Given the description of an element on the screen output the (x, y) to click on. 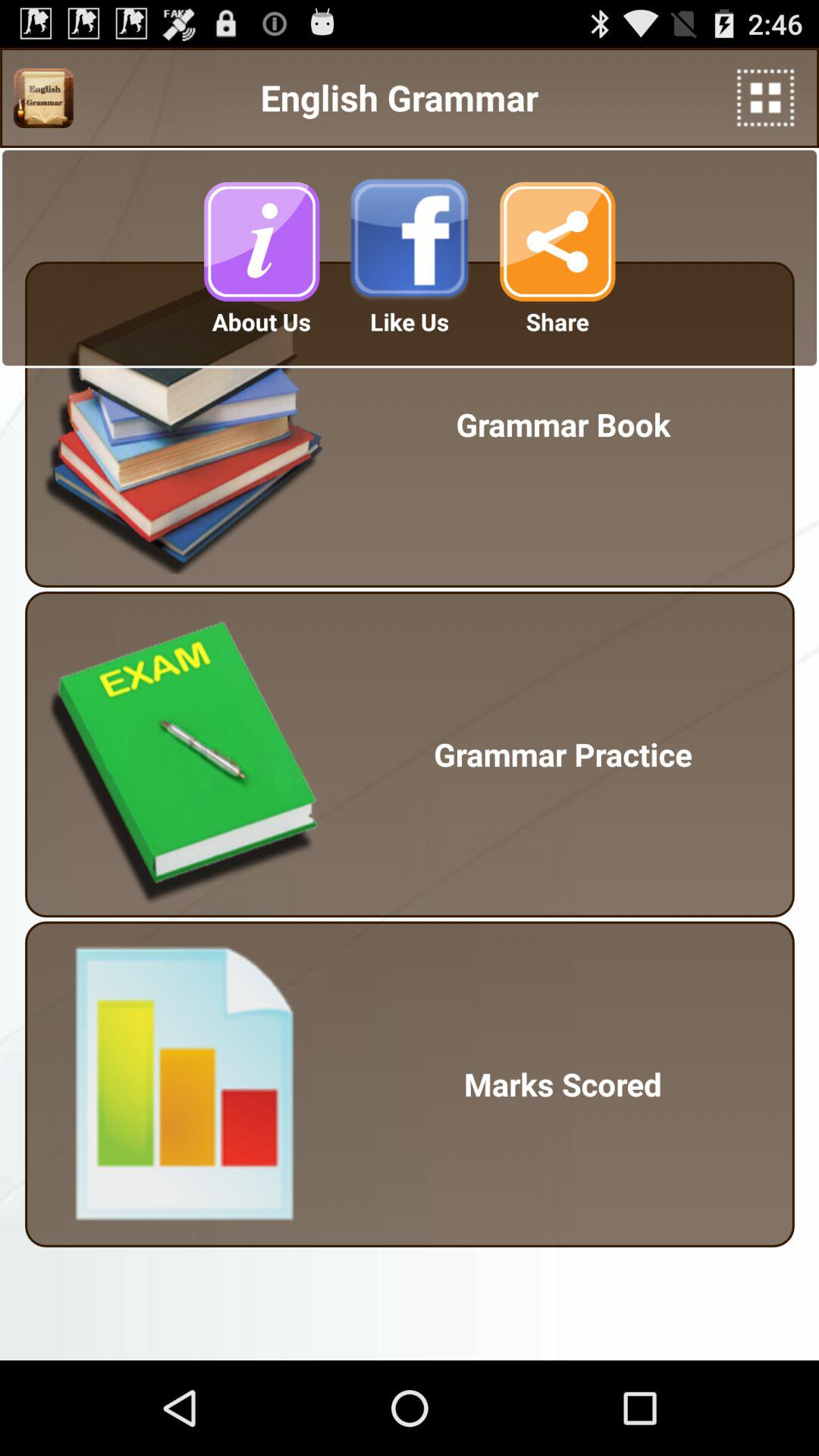
share the app (557, 241)
